Given the description of an element on the screen output the (x, y) to click on. 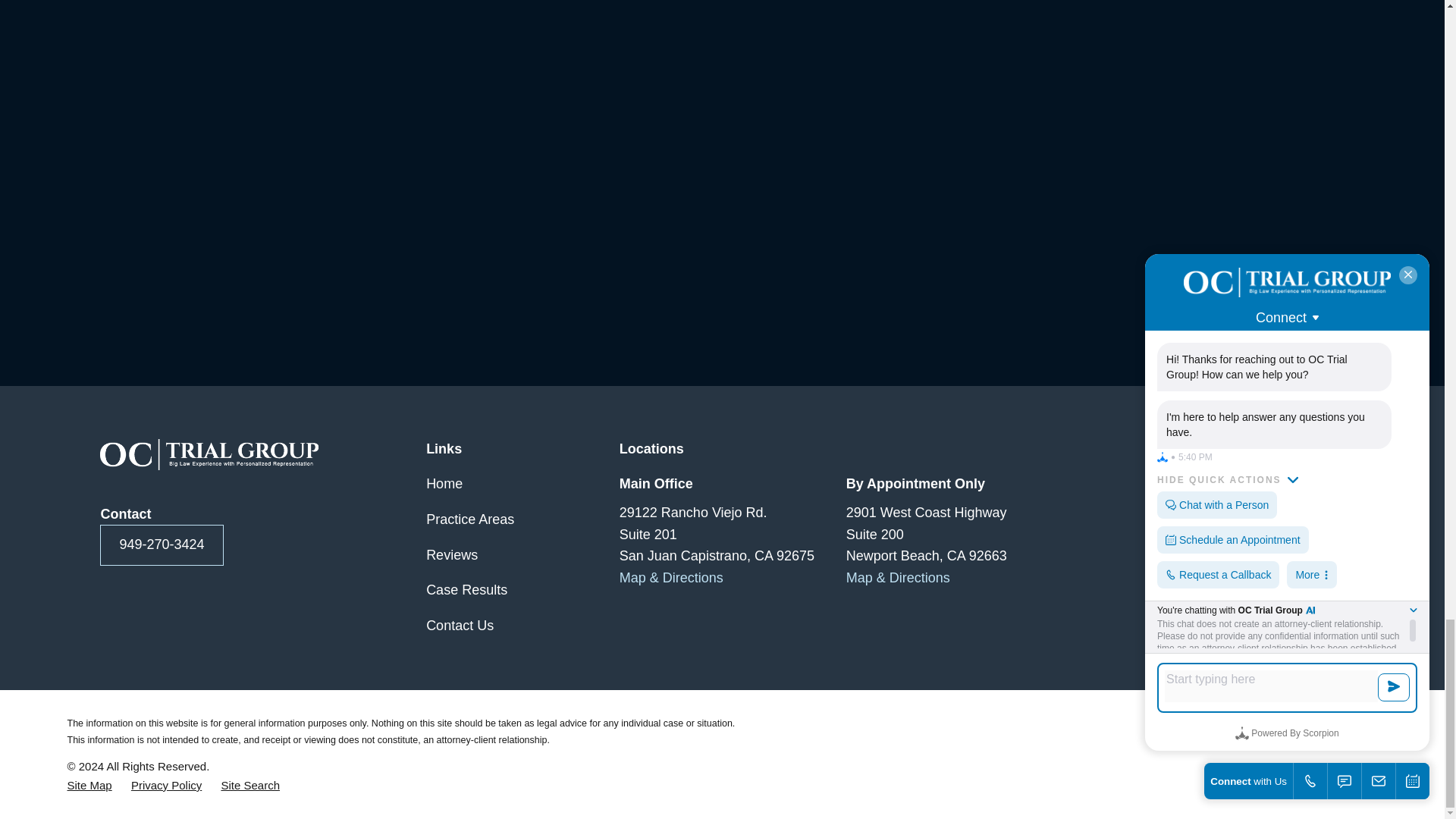
Facebook (1304, 484)
Instagram (1257, 484)
LinkedIn2 (1212, 484)
YouTube (1165, 484)
Home (209, 454)
